Given the description of an element on the screen output the (x, y) to click on. 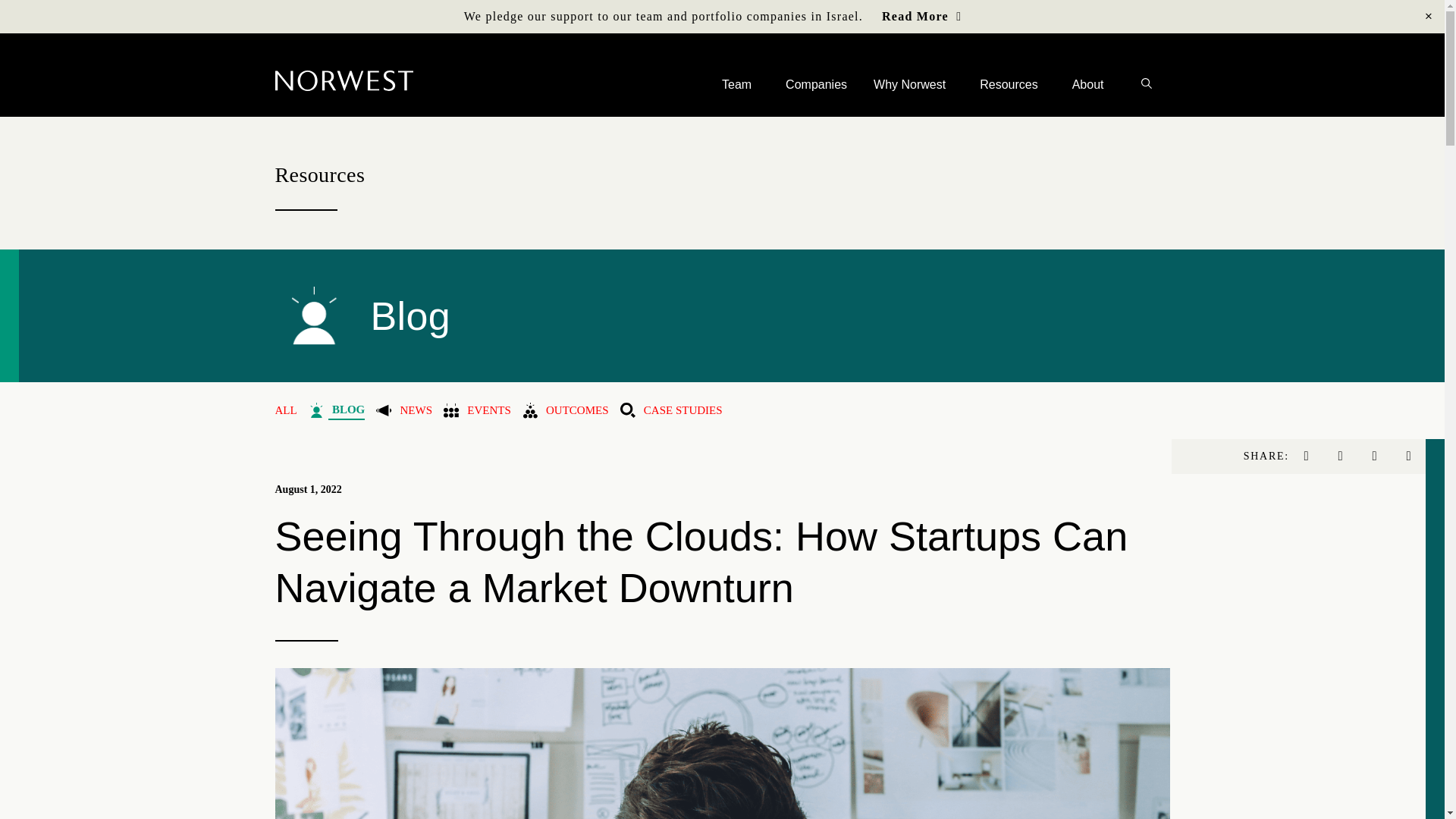
Companies (816, 81)
Why Norwest (913, 82)
Resources (1012, 84)
Read More (921, 16)
Team (740, 78)
About (1091, 84)
